Given the description of an element on the screen output the (x, y) to click on. 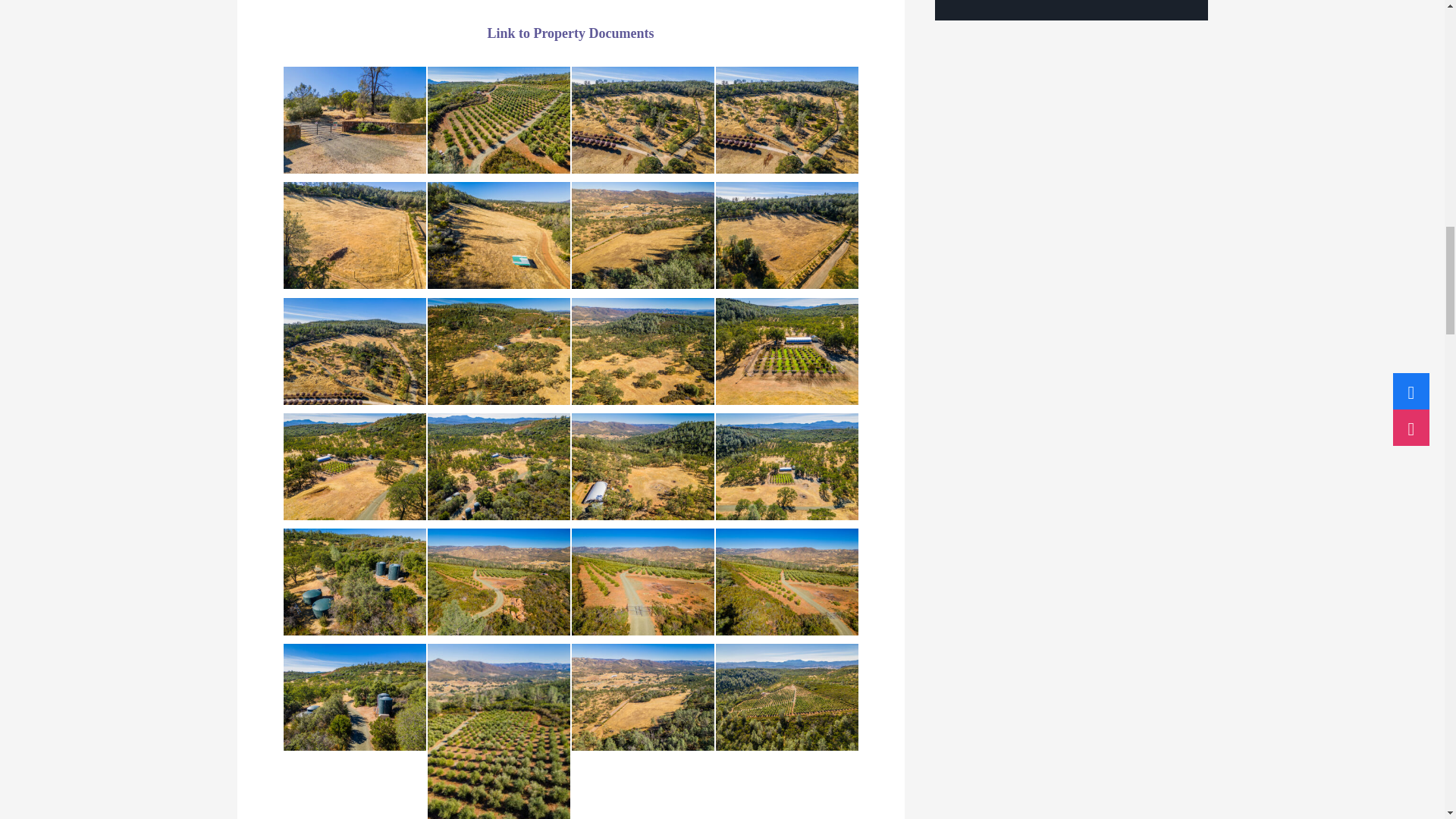
Link to Property Documents (569, 32)
